Given the description of an element on the screen output the (x, y) to click on. 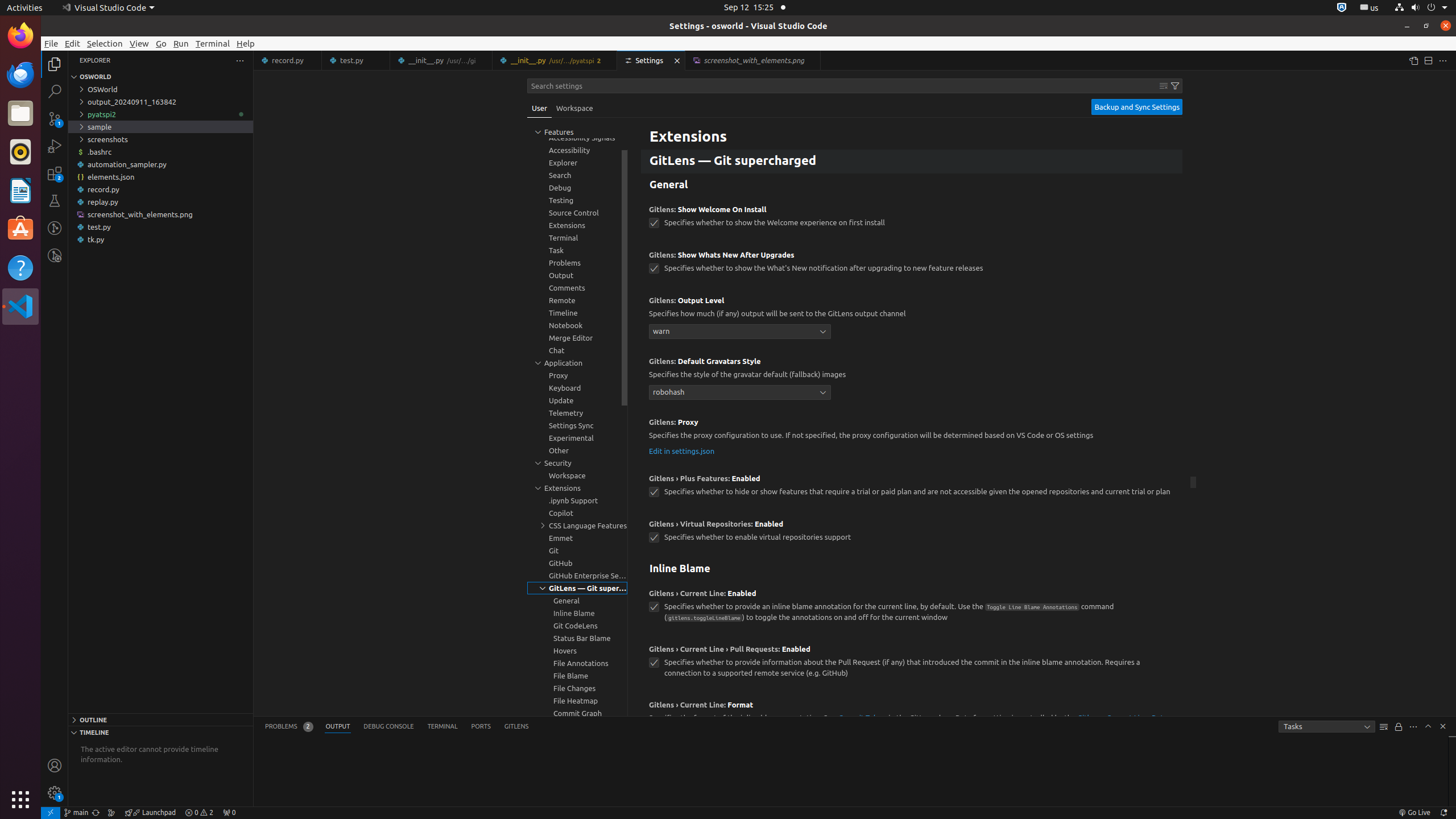
File Heatmap, group Element type: tree-item (577, 700)
Notebook, group Element type: tree-item (577, 325)
Gitlens › Virtual Repositories Enabled. Specifies whether to enable virtual repositories support  Element type: tree-item (911, 534)
